Given the description of an element on the screen output the (x, y) to click on. 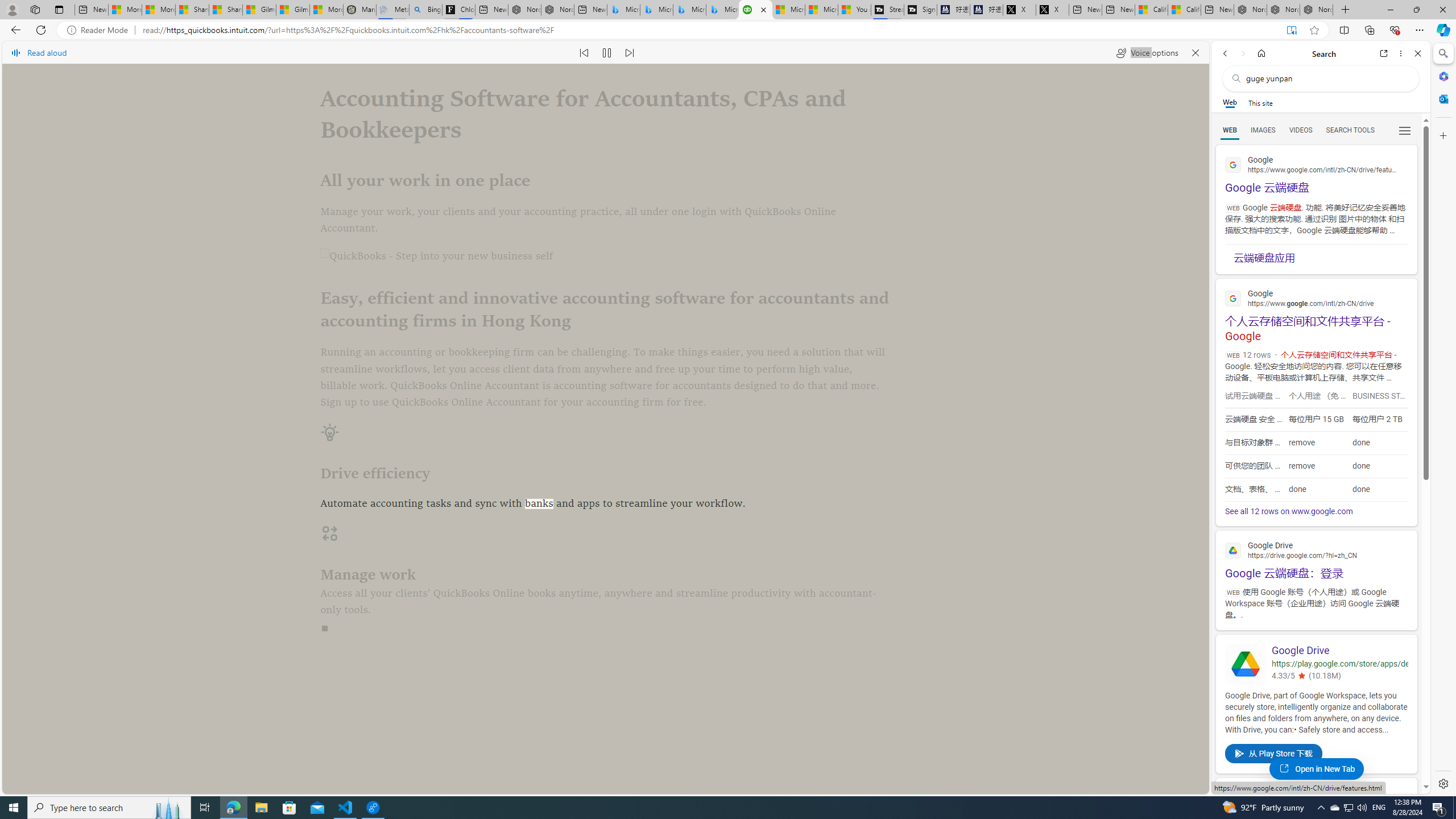
Voice options (1146, 52)
Global web icon (1232, 797)
Forward (1242, 53)
Outlook (1442, 98)
Class: b_serphb (1404, 130)
